Given the description of an element on the screen output the (x, y) to click on. 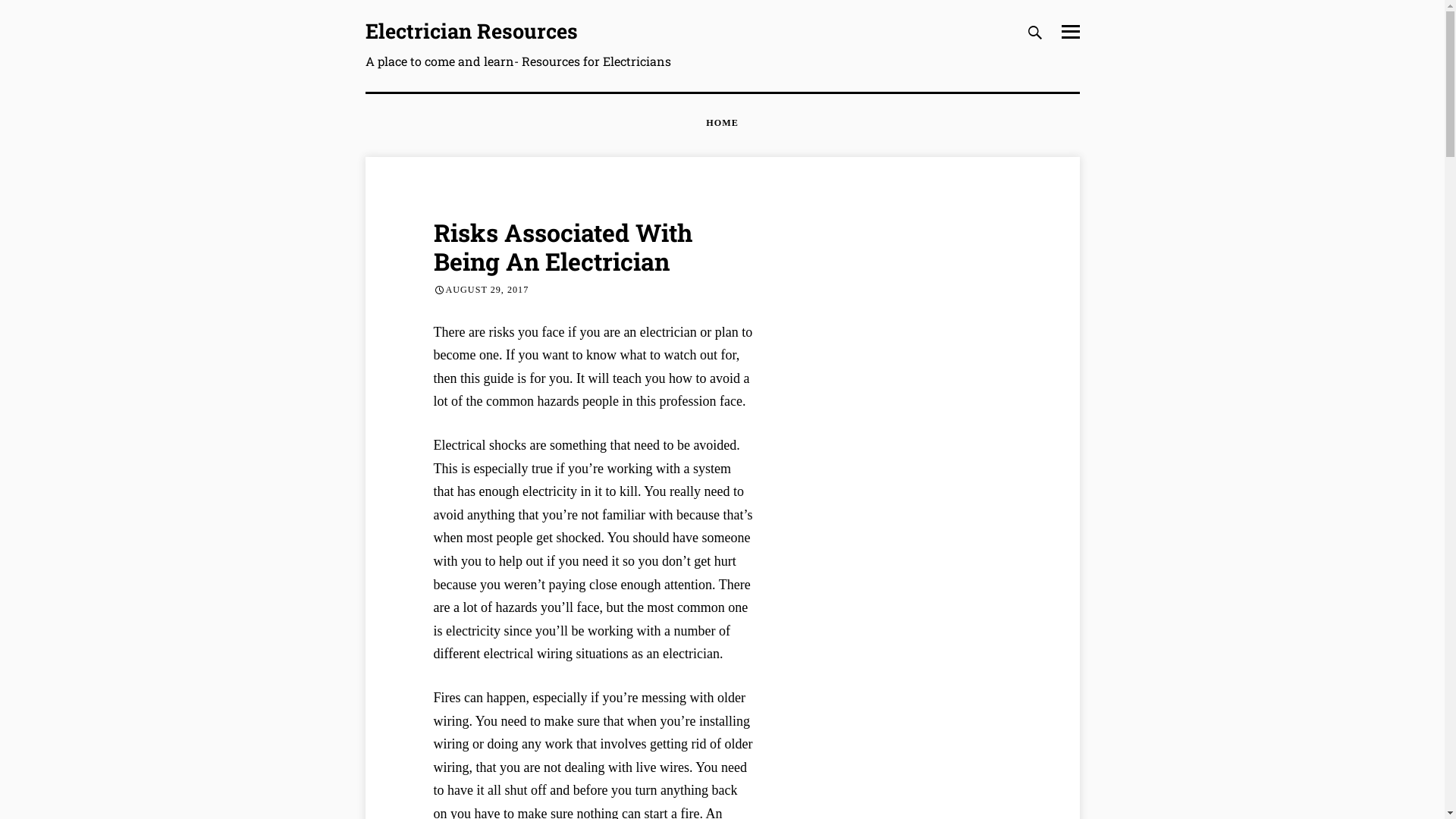
Risks Associated With Being An Electrician Element type: text (562, 246)
Electrician Resources Element type: text (471, 30)
HOME Element type: text (722, 123)
AUGUST 29, 2017 Element type: text (487, 289)
Skip to content Element type: text (364, 19)
